Given the description of an element on the screen output the (x, y) to click on. 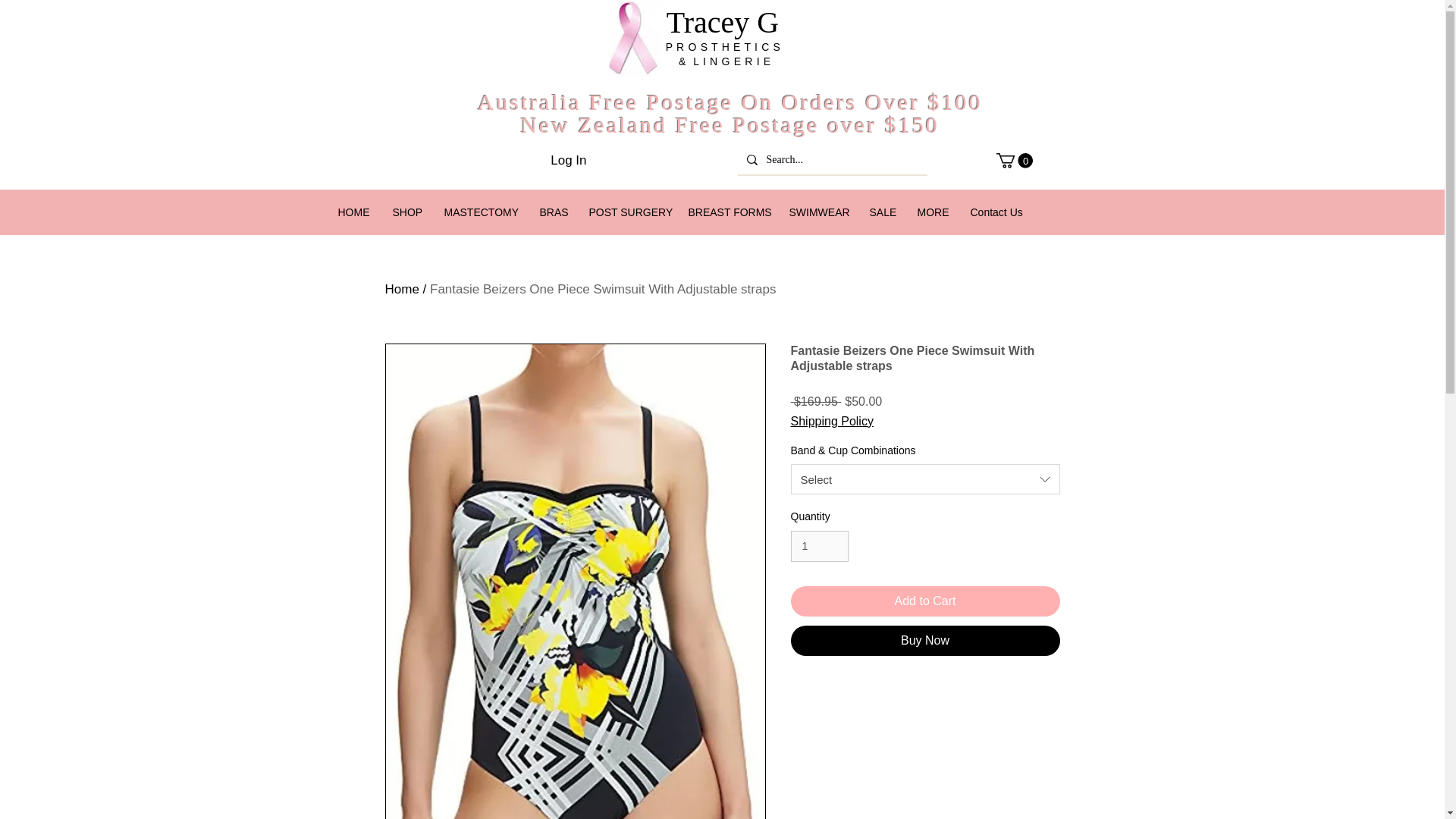
Log In (568, 160)
BREAST FORMS (727, 212)
HOME (353, 212)
0 (1013, 160)
1 (818, 545)
POST SURGERY (627, 212)
0 (1013, 160)
BRAS (551, 212)
